Given the description of an element on the screen output the (x, y) to click on. 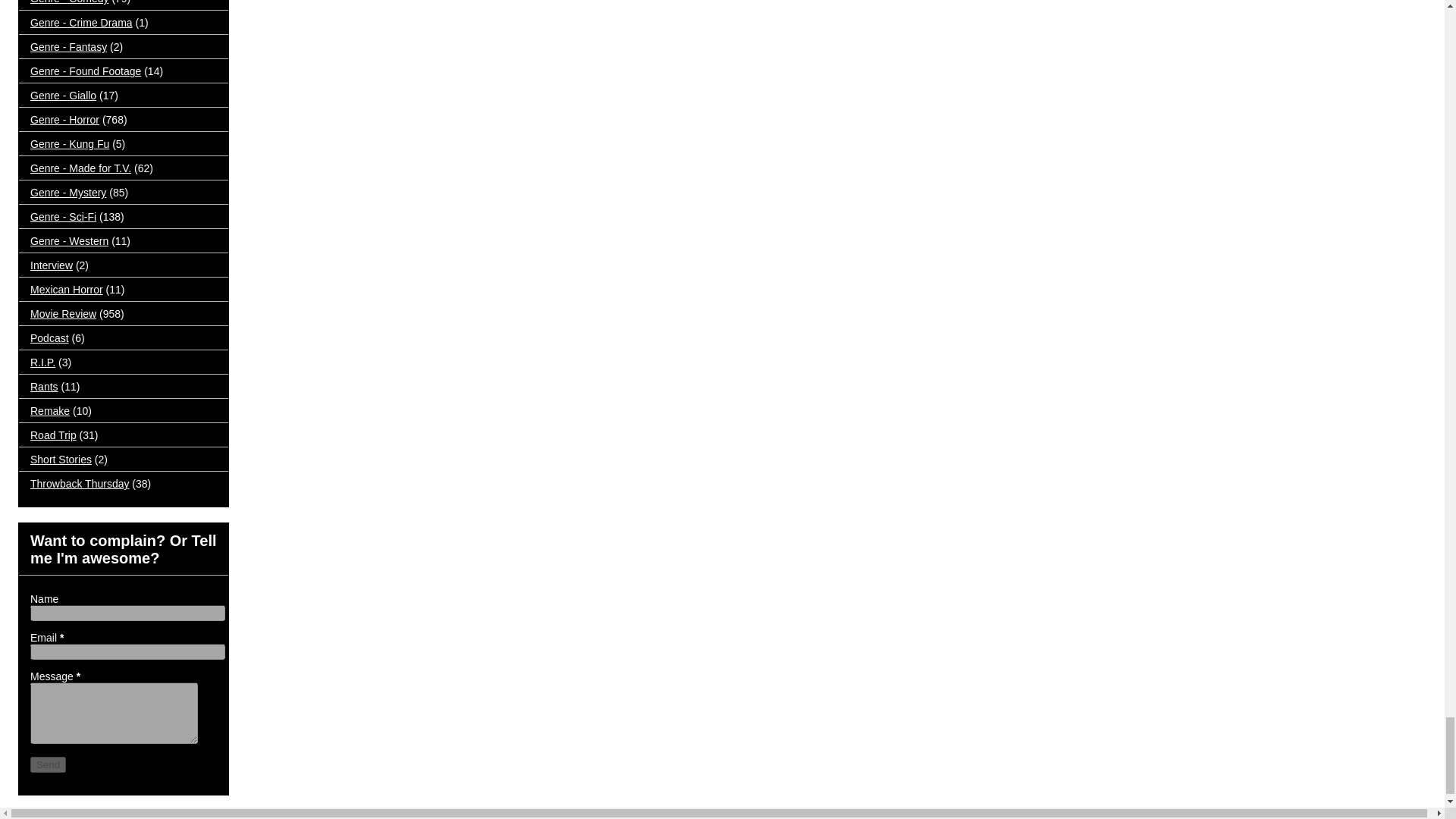
Send (47, 764)
